Given the description of an element on the screen output the (x, y) to click on. 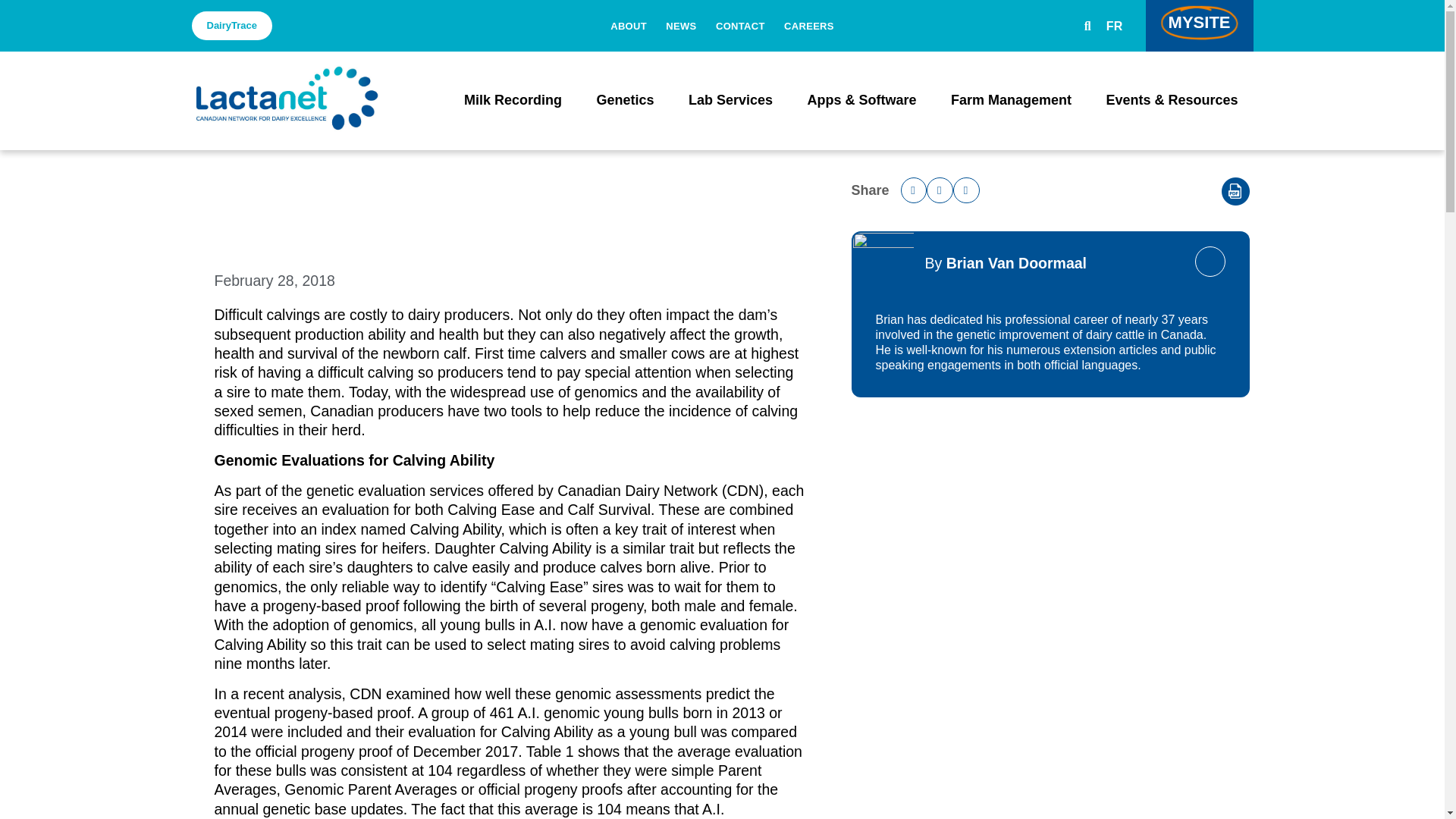
DairyTrace (231, 25)
FR (1114, 25)
MYSITE (1199, 25)
NEWS (680, 25)
Milk Recording (512, 100)
CAREERS (809, 25)
CONTACT (740, 25)
ABOUT (628, 25)
Genetics (624, 100)
Genetics (624, 100)
